Given the description of an element on the screen output the (x, y) to click on. 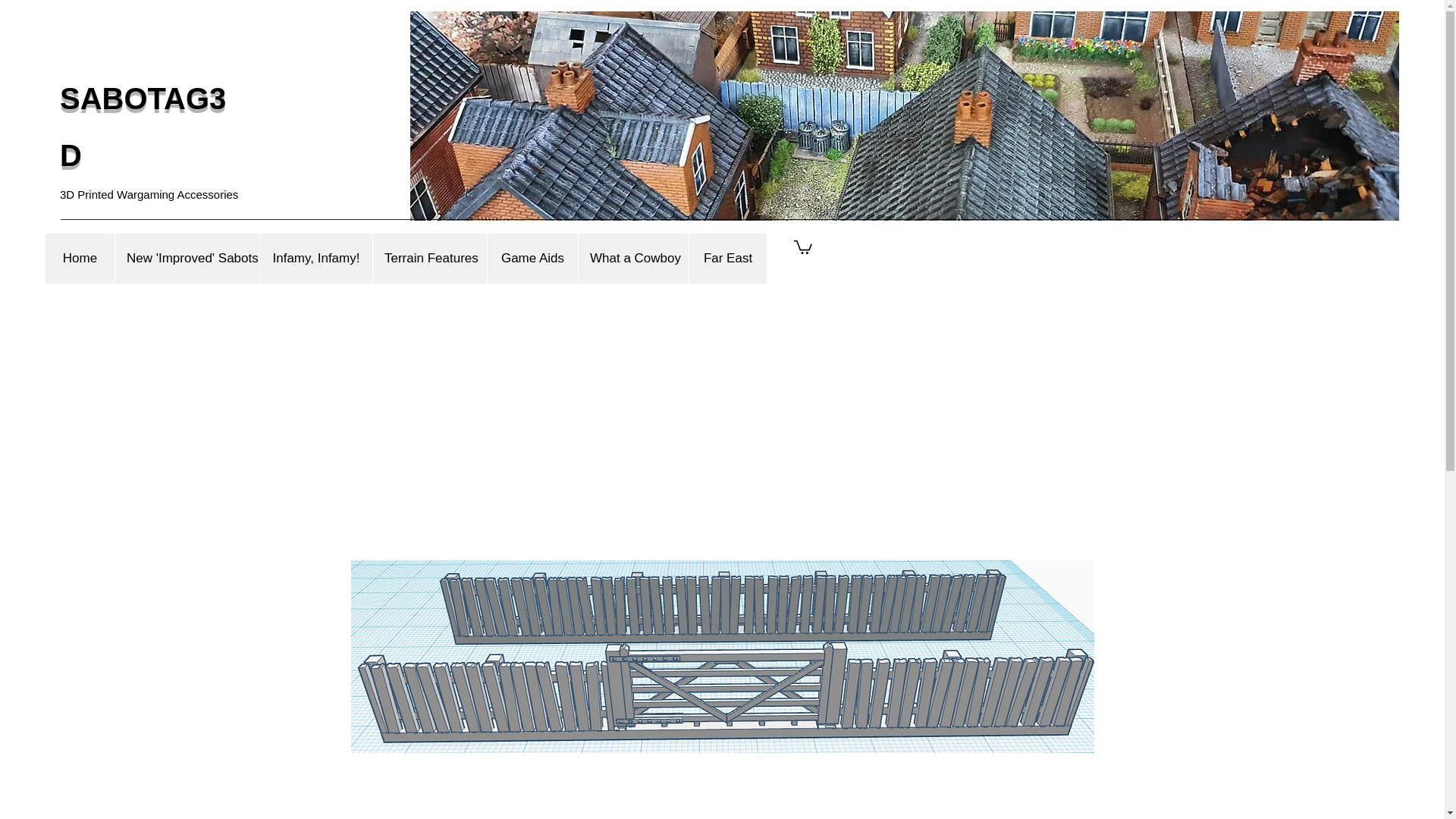
Terrain Features (429, 258)
Home (80, 258)
Far East (727, 258)
What a Cowboy (633, 258)
Game Aids (532, 258)
Infamy, Infamy! (315, 258)
